Given the description of an element on the screen output the (x, y) to click on. 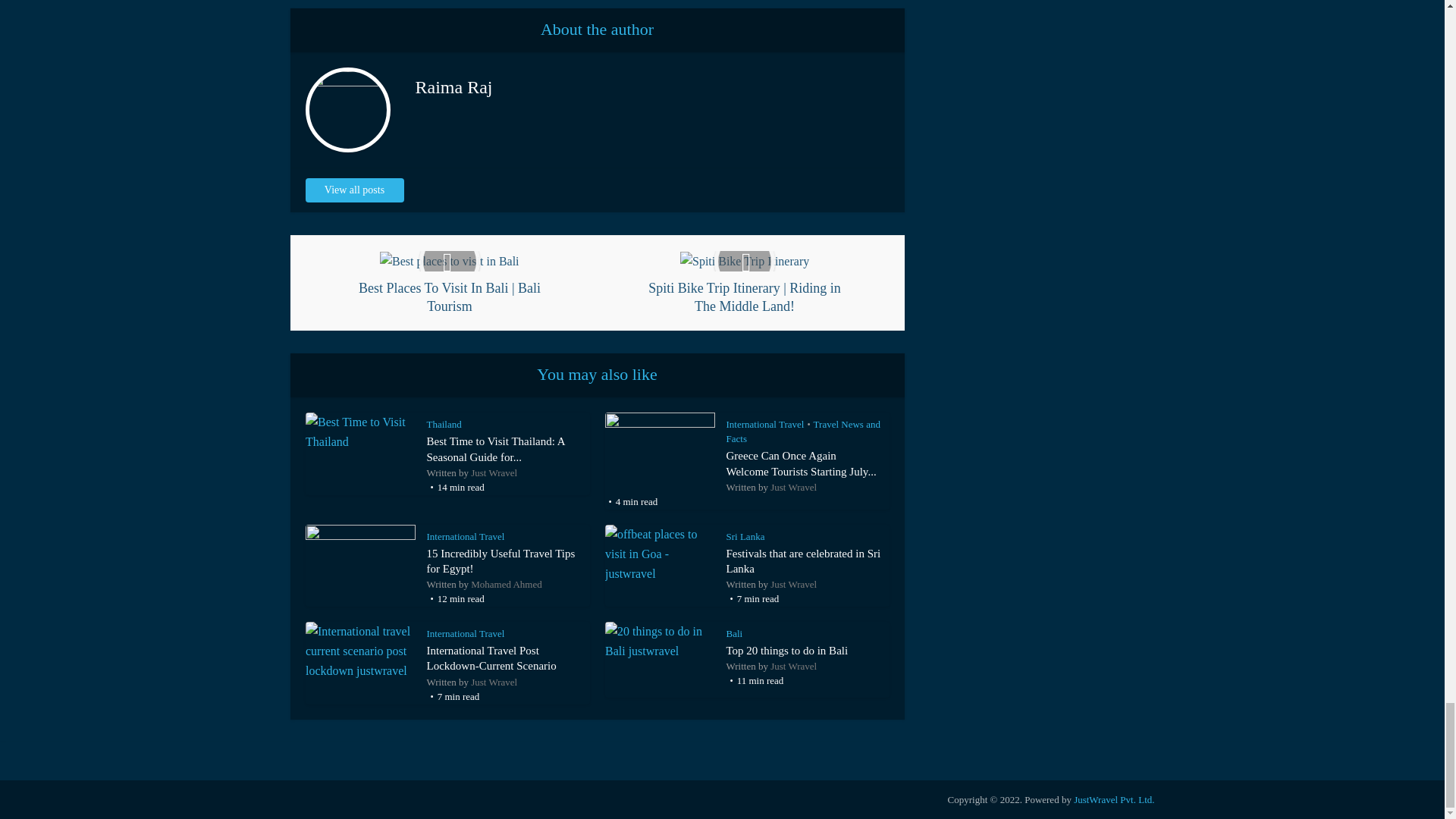
Best Time to Visit Thailand: A Seasonal Guide for Travelers (495, 448)
15 Incredibly Useful Travel Tips for Egypt! (500, 560)
Greece Can Once Again Welcome Tourists Starting July 1st (801, 462)
Festivals that are celebrated in Sri Lanka (803, 560)
